Given the description of an element on the screen output the (x, y) to click on. 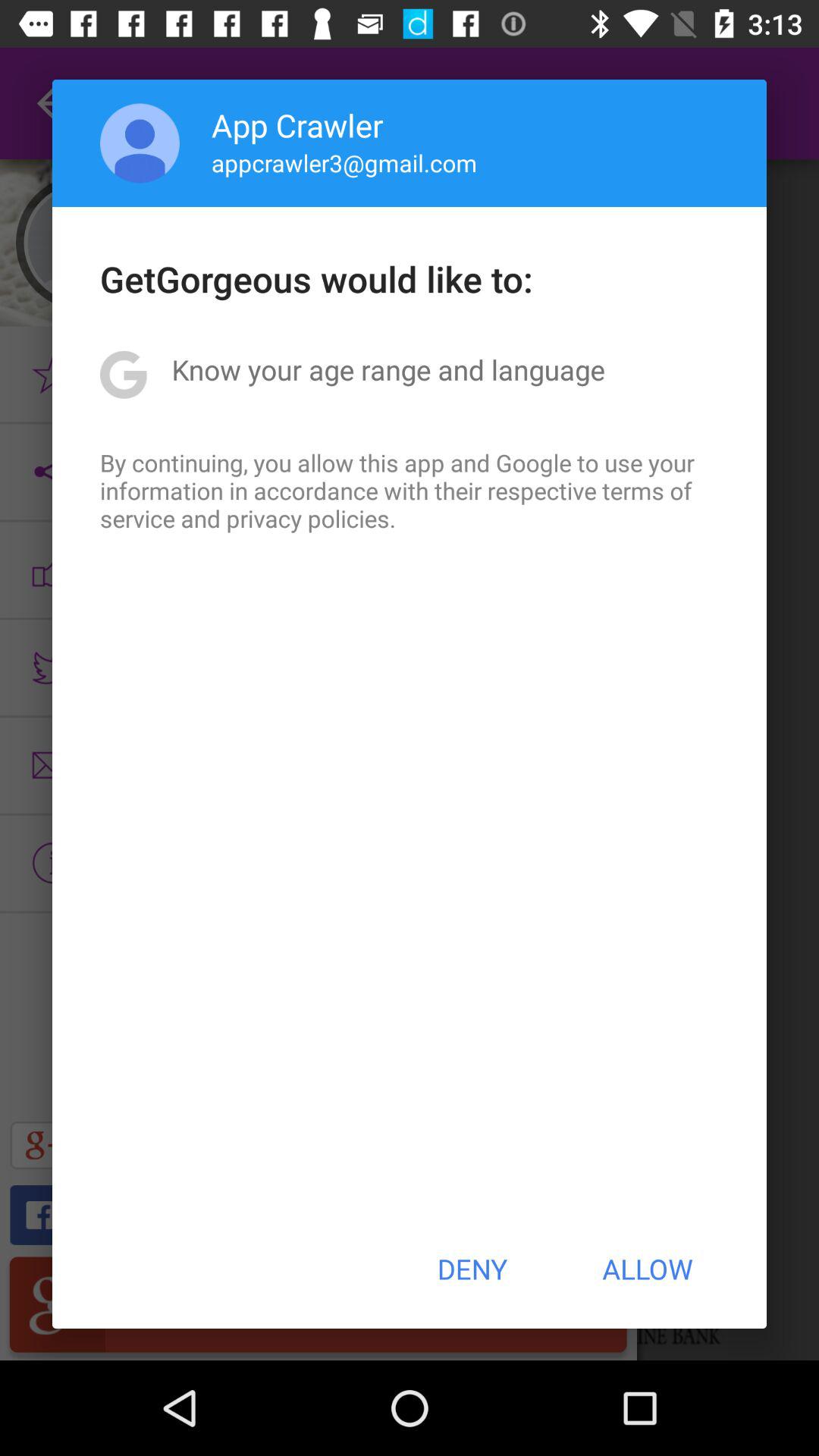
choose the icon below getgorgeous would like (388, 369)
